Given the description of an element on the screen output the (x, y) to click on. 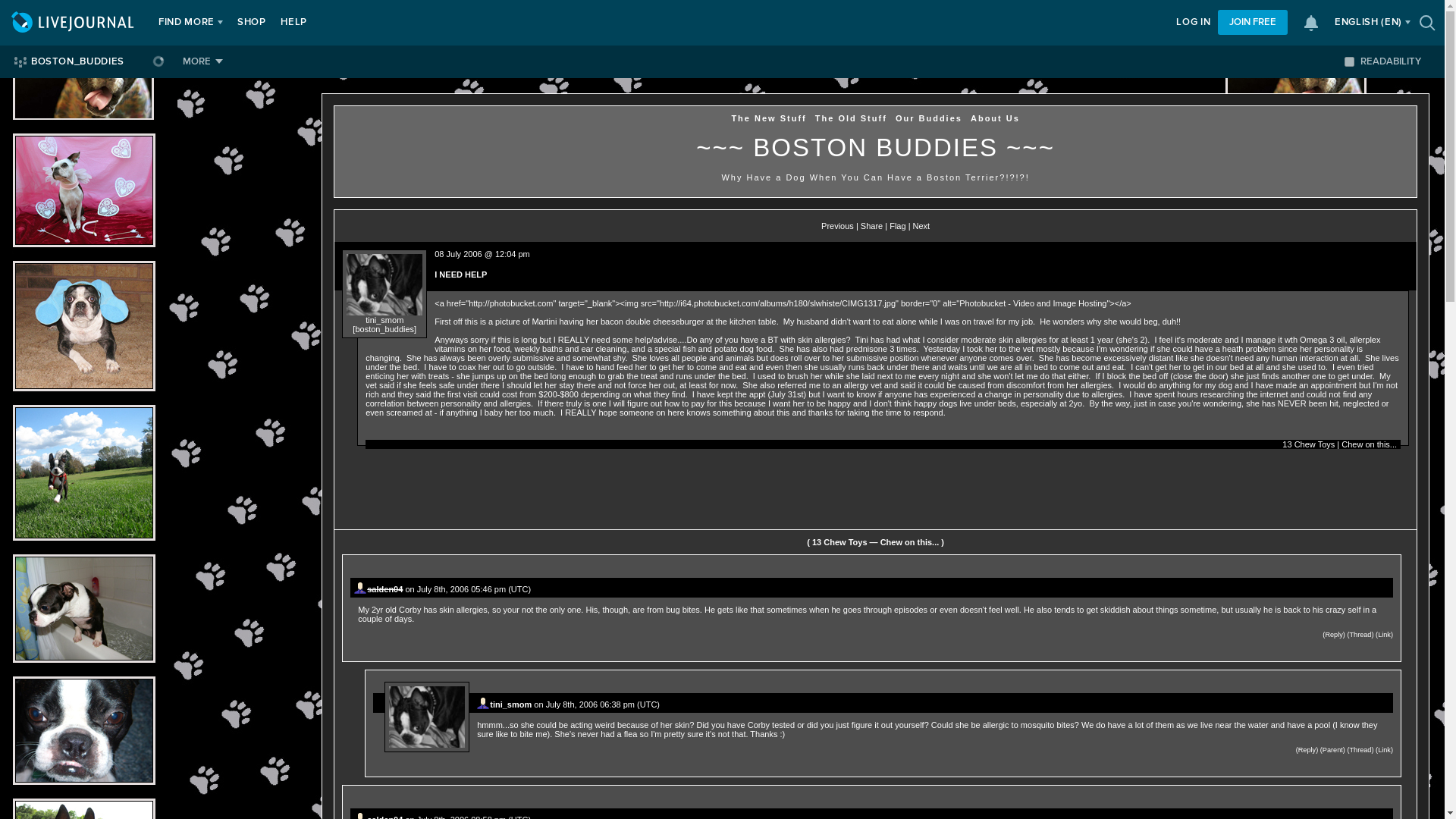
HELP (293, 22)
2 hours after journal entry (602, 704)
MORE (202, 61)
1 hours after journal entry (473, 588)
FIND MORE (186, 22)
JOIN FREE (1252, 22)
LIVEJOURNAL (73, 22)
4 hours after journal entry (473, 816)
LOG IN (1193, 22)
on (1348, 61)
SHOP (251, 22)
